Given the description of an element on the screen output the (x, y) to click on. 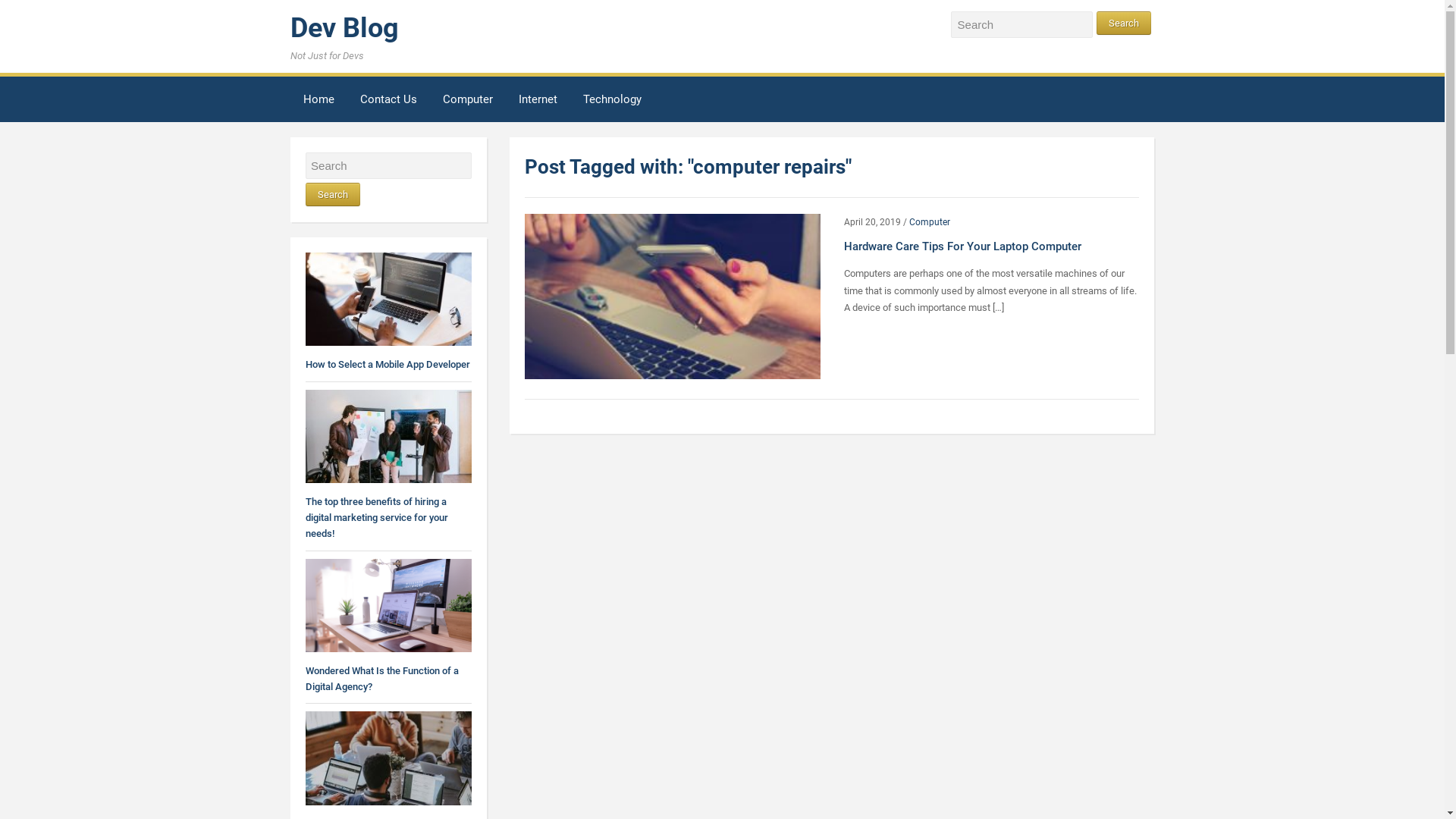
Internet Element type: text (537, 101)
Top factors to consider for a corporate email service Element type: hover (387, 756)
How to Select a Mobile App Developer Element type: text (386, 364)
Wondered What Is the Function of a Digital Agency? Element type: hover (387, 604)
Hardware Care Tips For Your Laptop Computer Element type: hover (671, 295)
Computer Element type: text (467, 101)
Contact Us Element type: text (387, 101)
Home Element type: text (318, 101)
How to Select a Mobile App Developer Element type: hover (387, 298)
Wondered What Is the Function of a Digital Agency? Element type: text (381, 678)
Technology Element type: text (611, 101)
Dev Blog Element type: text (343, 27)
Computer Element type: text (929, 221)
Search Element type: text (1123, 22)
Search Element type: text (331, 194)
Hardware Care Tips For Your Laptop Computer Element type: text (962, 246)
